Given the description of an element on the screen output the (x, y) to click on. 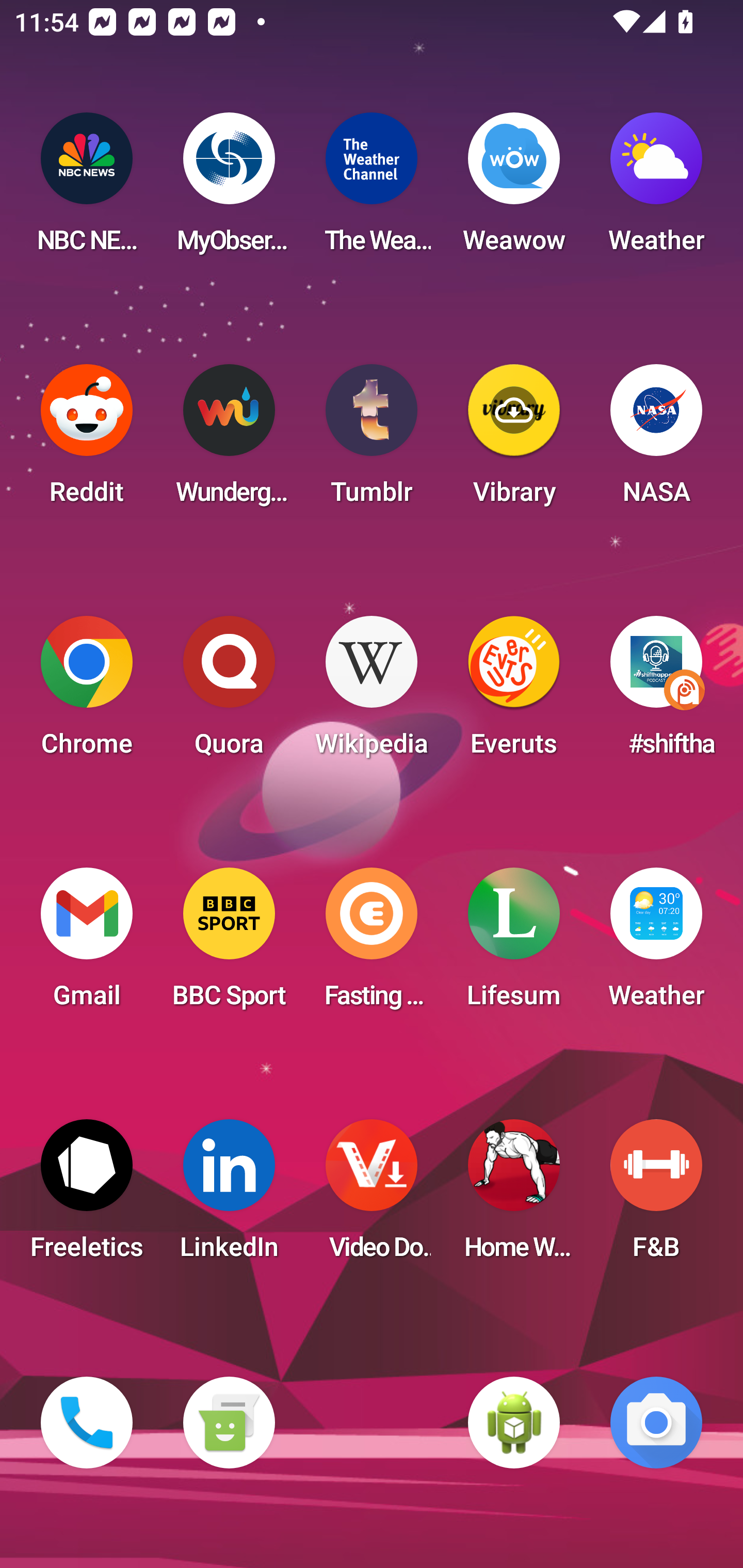
NBC NEWS (86, 188)
MyObservatory (228, 188)
The Weather Channel (371, 188)
Weawow (513, 188)
Weather (656, 188)
Reddit (86, 440)
Wunderground (228, 440)
Tumblr (371, 440)
Vibrary (513, 440)
NASA (656, 440)
Chrome (86, 692)
Quora (228, 692)
Wikipedia (371, 692)
Everuts (513, 692)
#shifthappens in the Digital Workplace Podcast (656, 692)
Gmail (86, 943)
BBC Sport (228, 943)
Fasting Coach (371, 943)
Lifesum (513, 943)
Weather (656, 943)
Freeletics (86, 1195)
LinkedIn (228, 1195)
Video Downloader & Ace Player (371, 1195)
Home Workout (513, 1195)
F&B (656, 1195)
Phone (86, 1422)
Messaging (228, 1422)
WebView Browser Tester (513, 1422)
Camera (656, 1422)
